Given the description of an element on the screen output the (x, y) to click on. 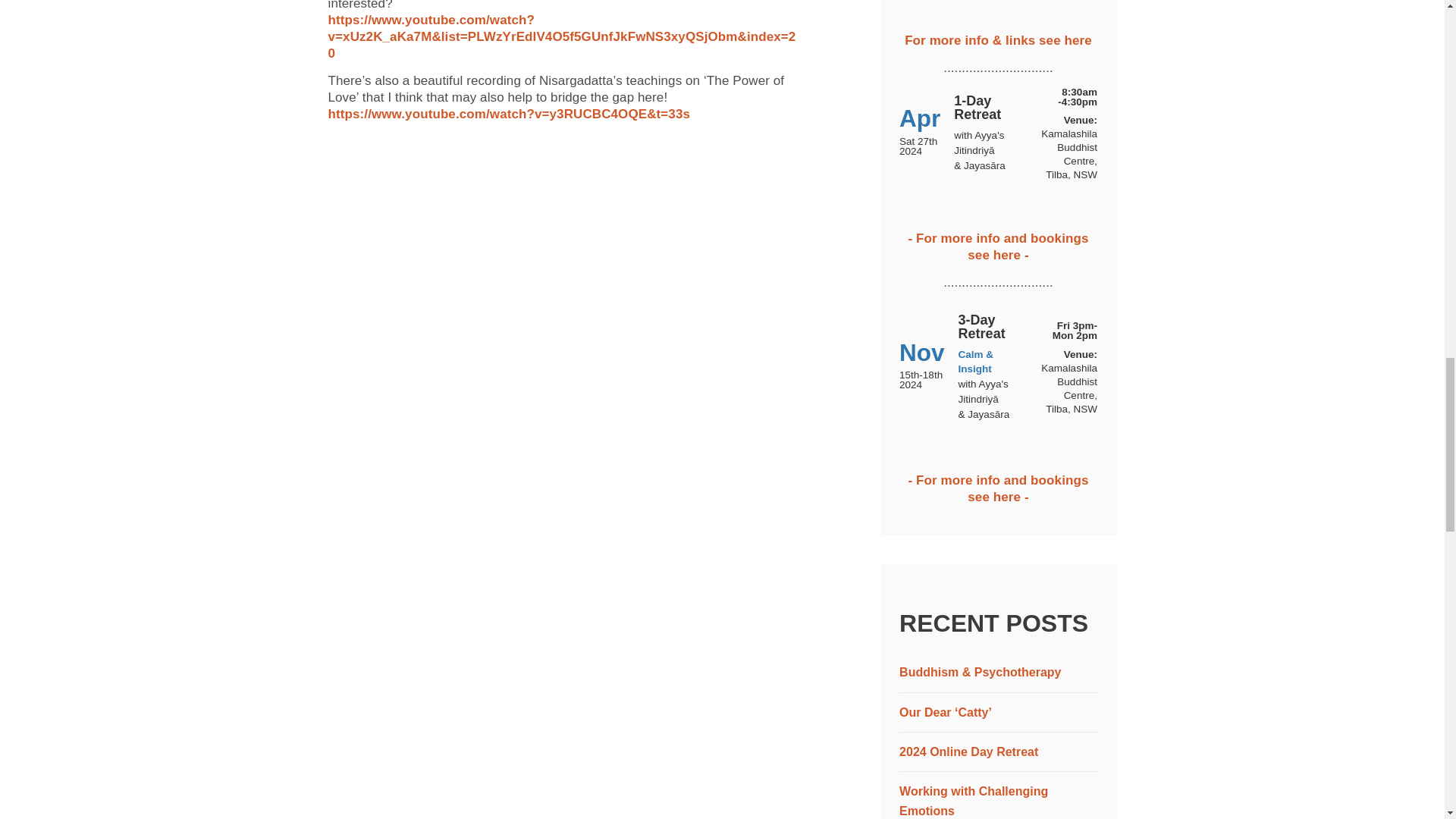
Working with Challenging Emotions (973, 800)
2024 Online Day Retreat (968, 751)
- For more info and bookings see here - (998, 246)
- For more info and bookings see here - (998, 488)
